Given the description of an element on the screen output the (x, y) to click on. 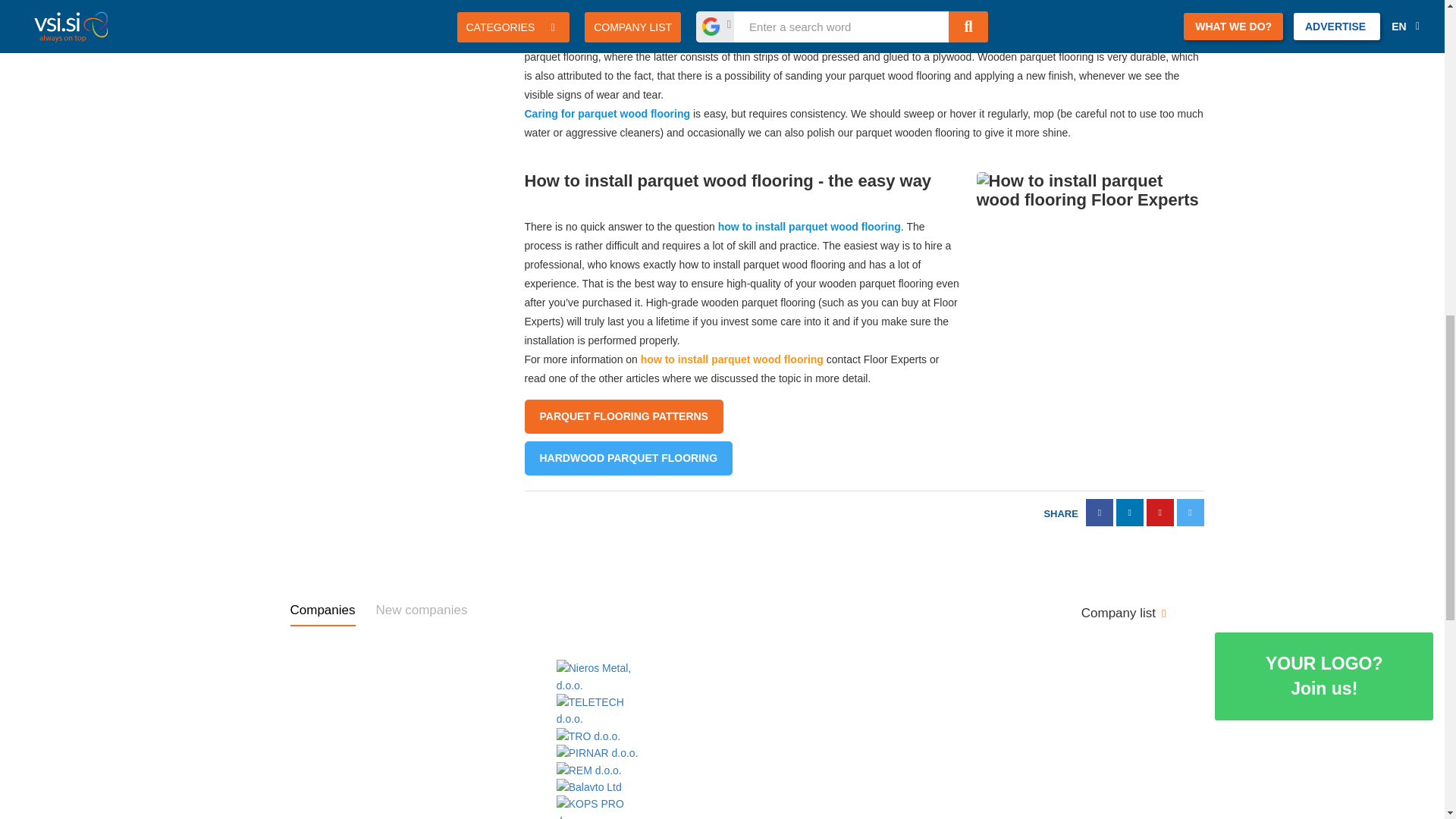
how to install parquet wood flooring (1090, 285)
Company list (1123, 613)
Parquet flooring patterns (623, 416)
Wooden parquet flooring (587, 37)
How to remove parquet flooring (732, 358)
